Given the description of an element on the screen output the (x, y) to click on. 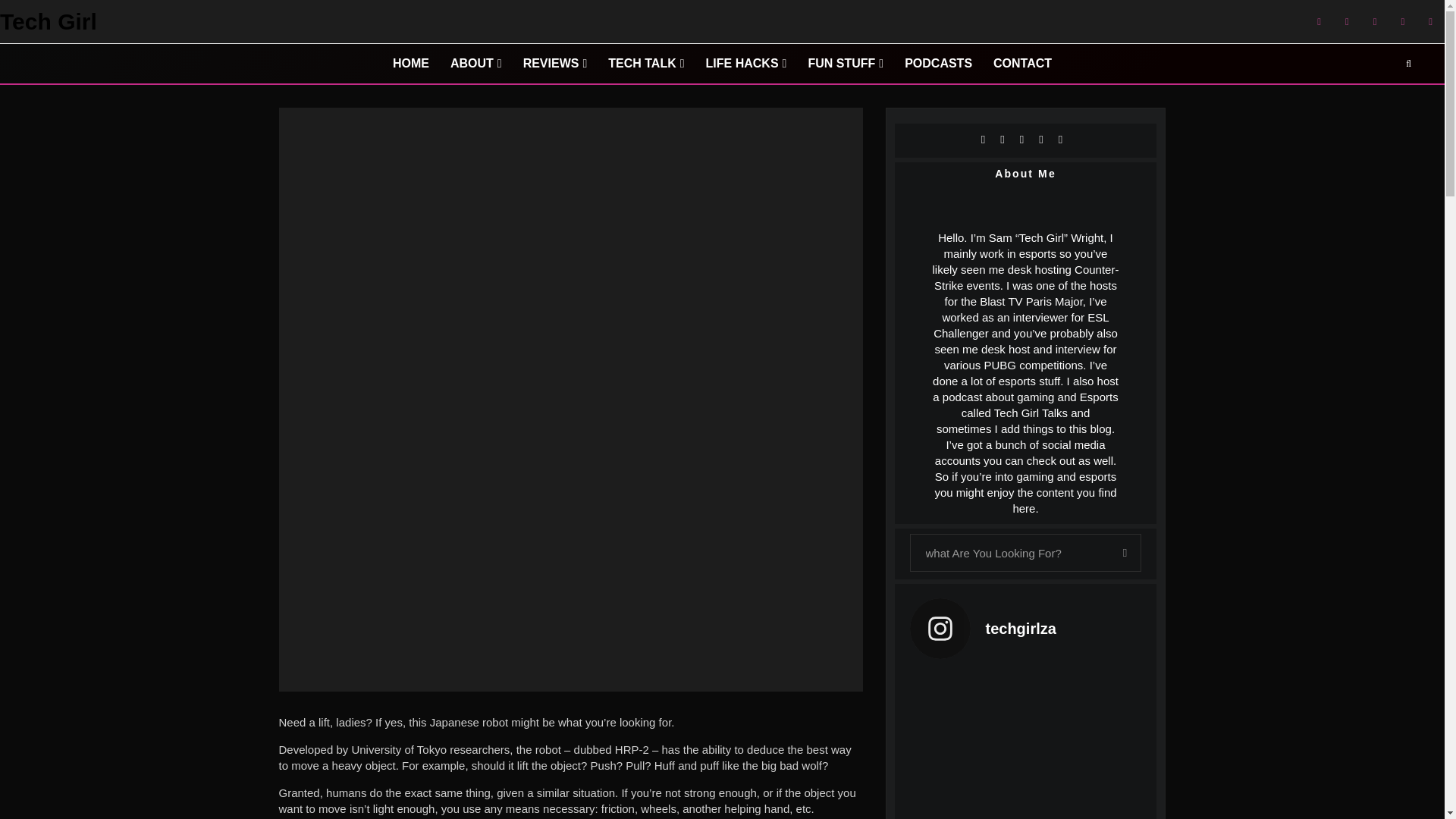
TECH TALK (645, 63)
ABOUT (475, 63)
Tech Girl (48, 21)
REVIEWS (555, 63)
HOME (410, 63)
